Given the description of an element on the screen output the (x, y) to click on. 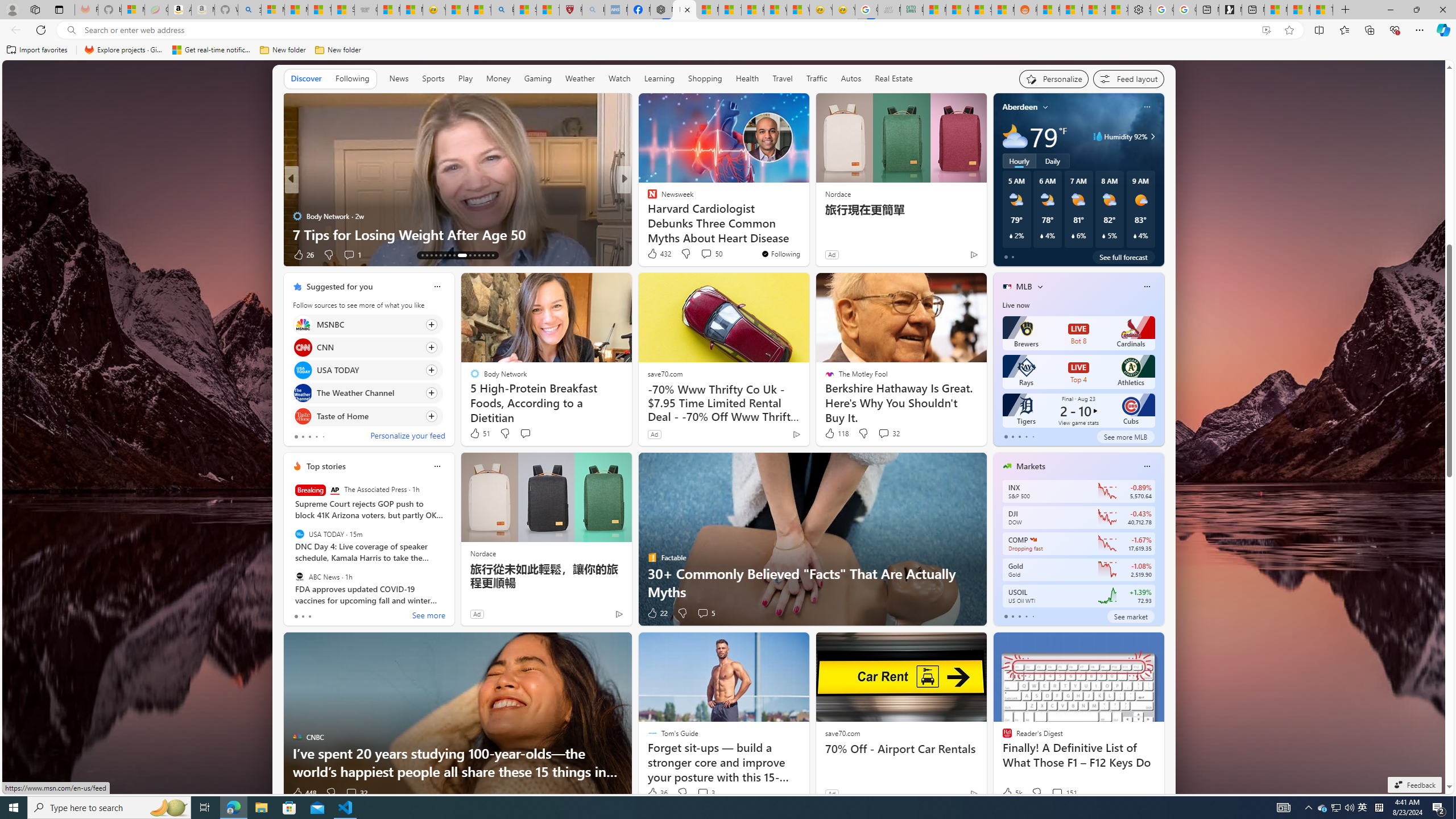
Following (352, 78)
182 Like (654, 254)
Top stories (325, 466)
View comments 151 Comment (1056, 792)
View comments 12 Comment (6, 254)
AutomationID: tab-81 (492, 255)
View comments 29 Comment (6, 254)
38 Things That Are Basically Adulting Cheat Codes (807, 234)
448 Like (303, 792)
Mostly cloudy (1014, 136)
The Motley Fool (647, 197)
Discover (306, 79)
